Given the description of an element on the screen output the (x, y) to click on. 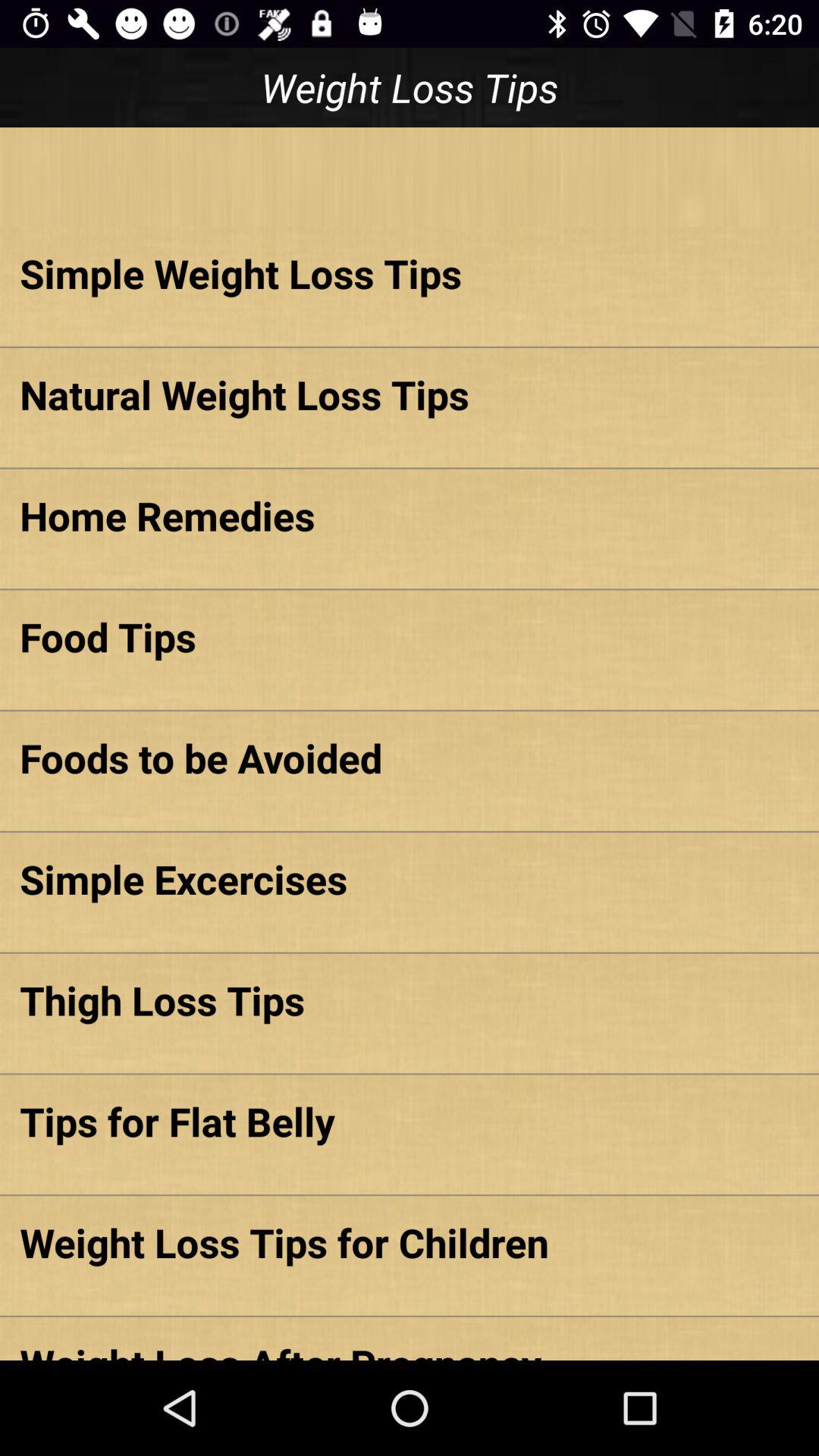
turn on simple excercises app (409, 878)
